Given the description of an element on the screen output the (x, y) to click on. 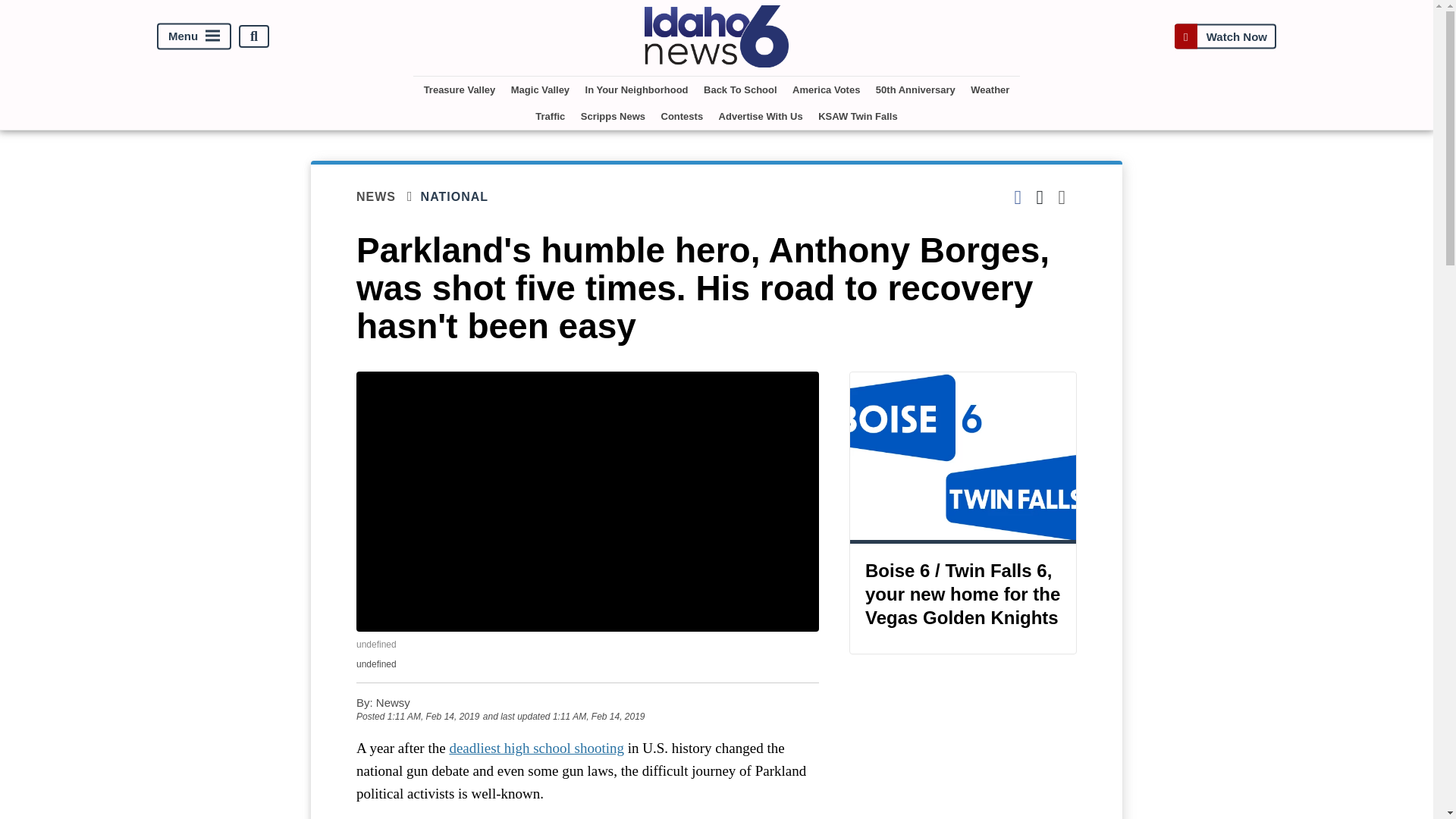
Watch Now (1224, 36)
Menu (194, 36)
